Given the description of an element on the screen output the (x, y) to click on. 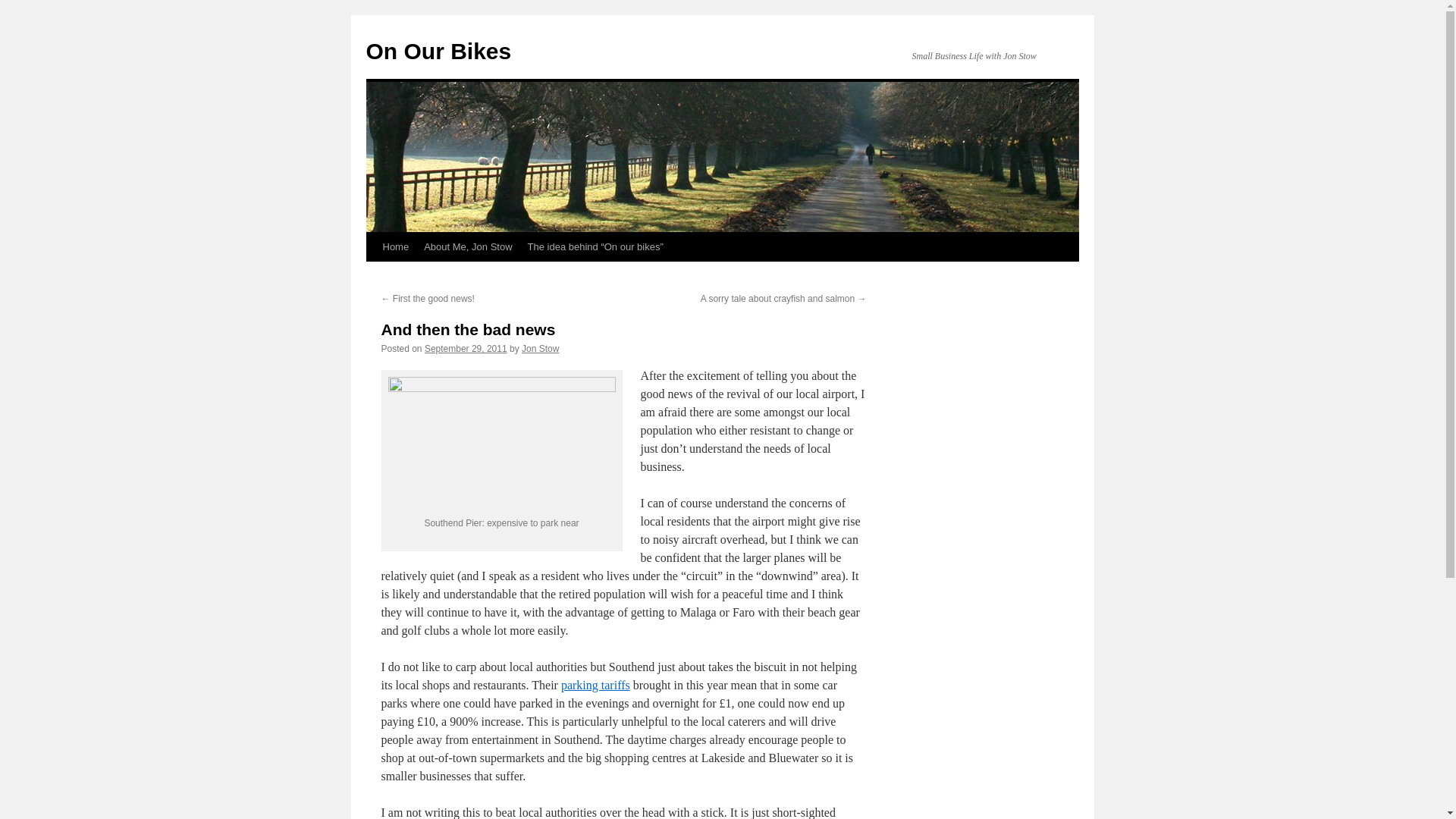
September 29, 2011 (465, 348)
10:21 am (465, 348)
About Me, Jon Stow (467, 246)
View all posts by Jon Stow (540, 348)
Home (395, 246)
parking tariffs (595, 684)
IMAG0008 (501, 444)
On Our Bikes (438, 50)
Jon Stow (540, 348)
